Given the description of an element on the screen output the (x, y) to click on. 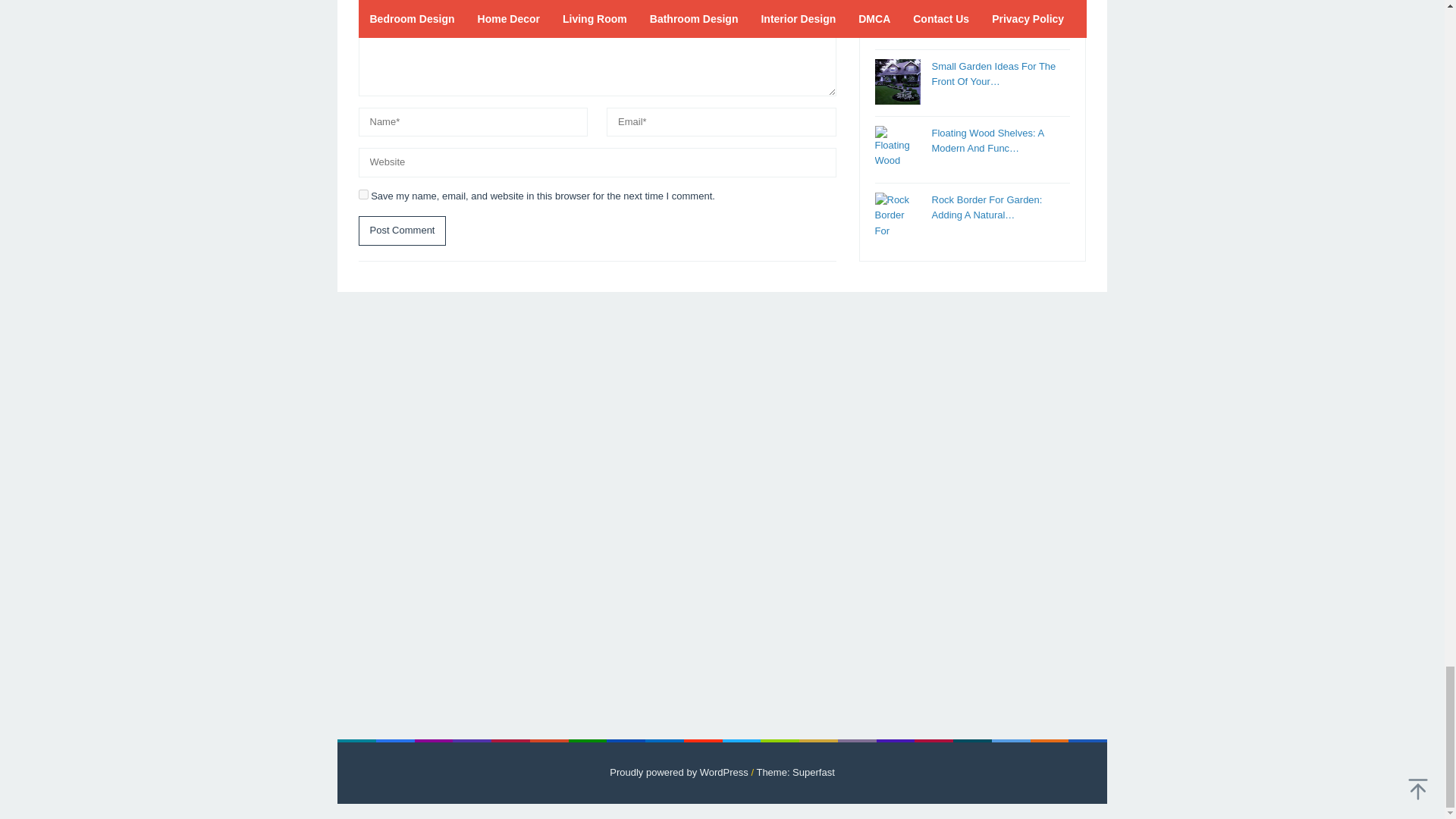
Post Comment (401, 230)
yes (363, 194)
